Given the description of an element on the screen output the (x, y) to click on. 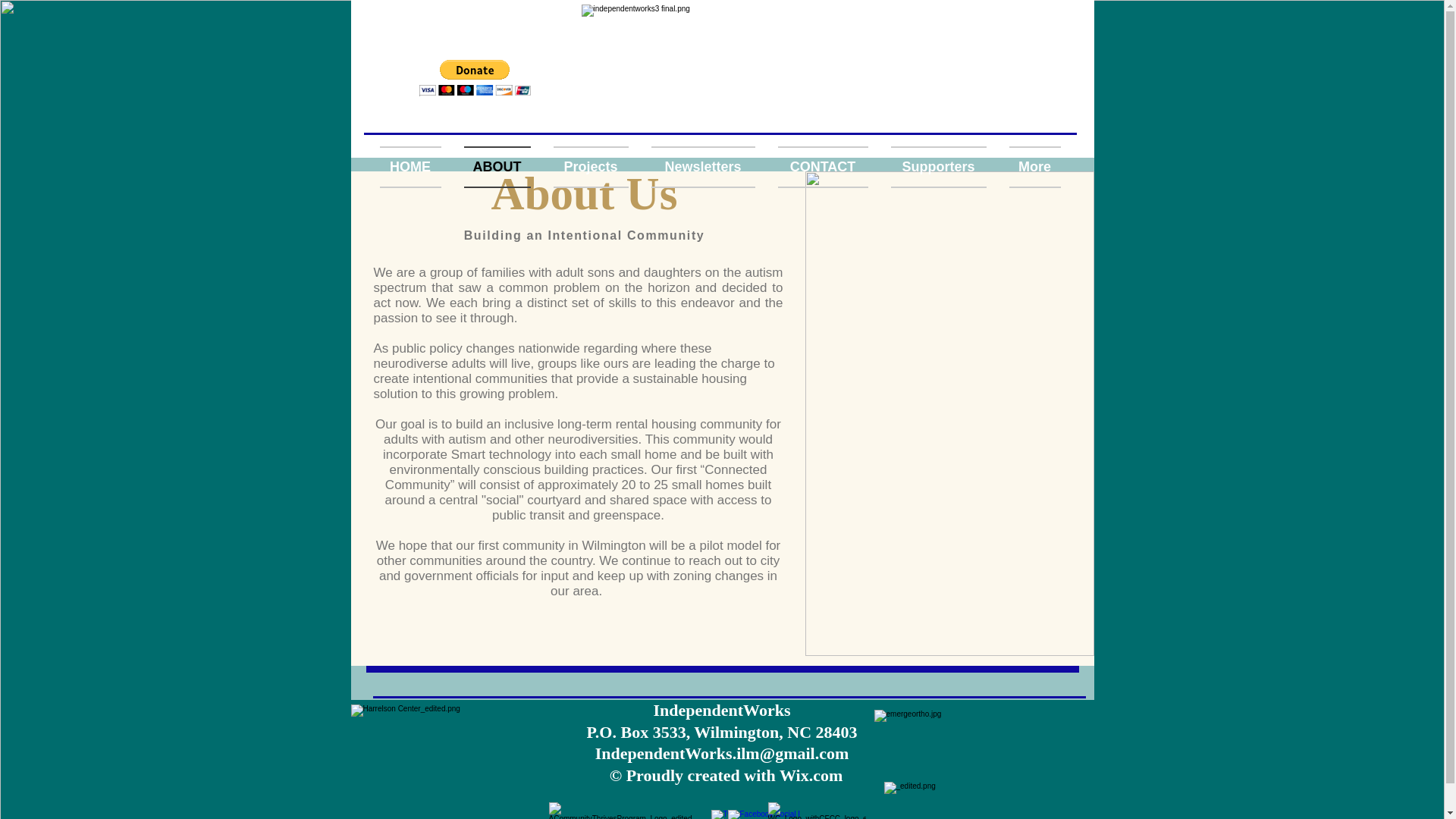
Projects (590, 167)
Wix.com (810, 774)
HOME (414, 167)
ABOUT (496, 167)
Supporters (938, 167)
Newsletters (703, 167)
CONTACT (822, 167)
